Given the description of an element on the screen output the (x, y) to click on. 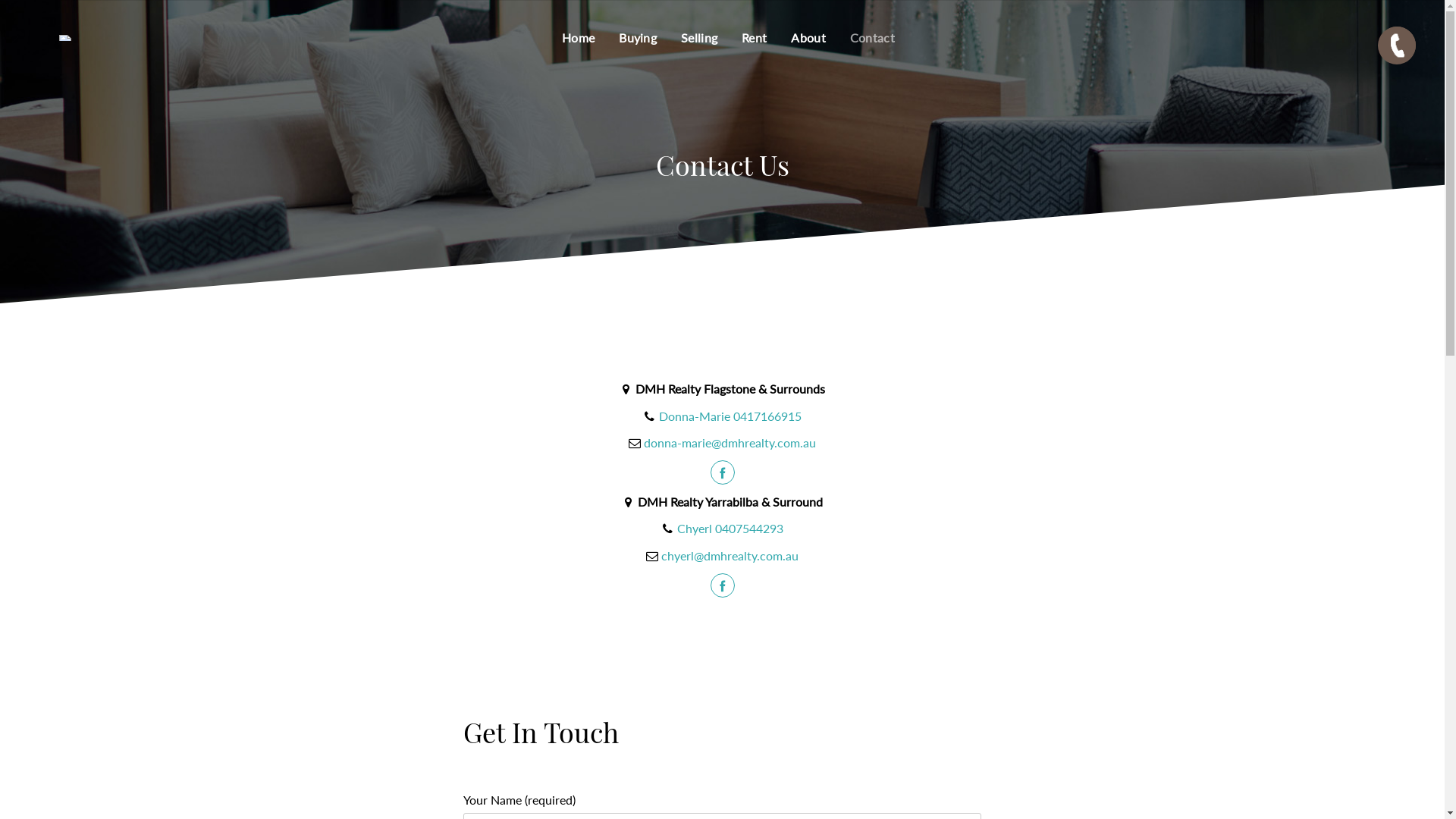
About Element type: text (807, 37)
Rent Element type: text (753, 37)
Contact Element type: text (872, 37)
Donna-Marie 0417166915 Element type: text (729, 415)
Selling Element type: text (698, 37)
Home Element type: text (577, 37)
chyerl@dmhrealty.com.au Element type: text (729, 555)
donna-marie@dmhrealty.com.au Element type: text (729, 442)
Chyerl 0407544293 Element type: text (729, 527)
Buying Element type: text (637, 37)
